Given the description of an element on the screen output the (x, y) to click on. 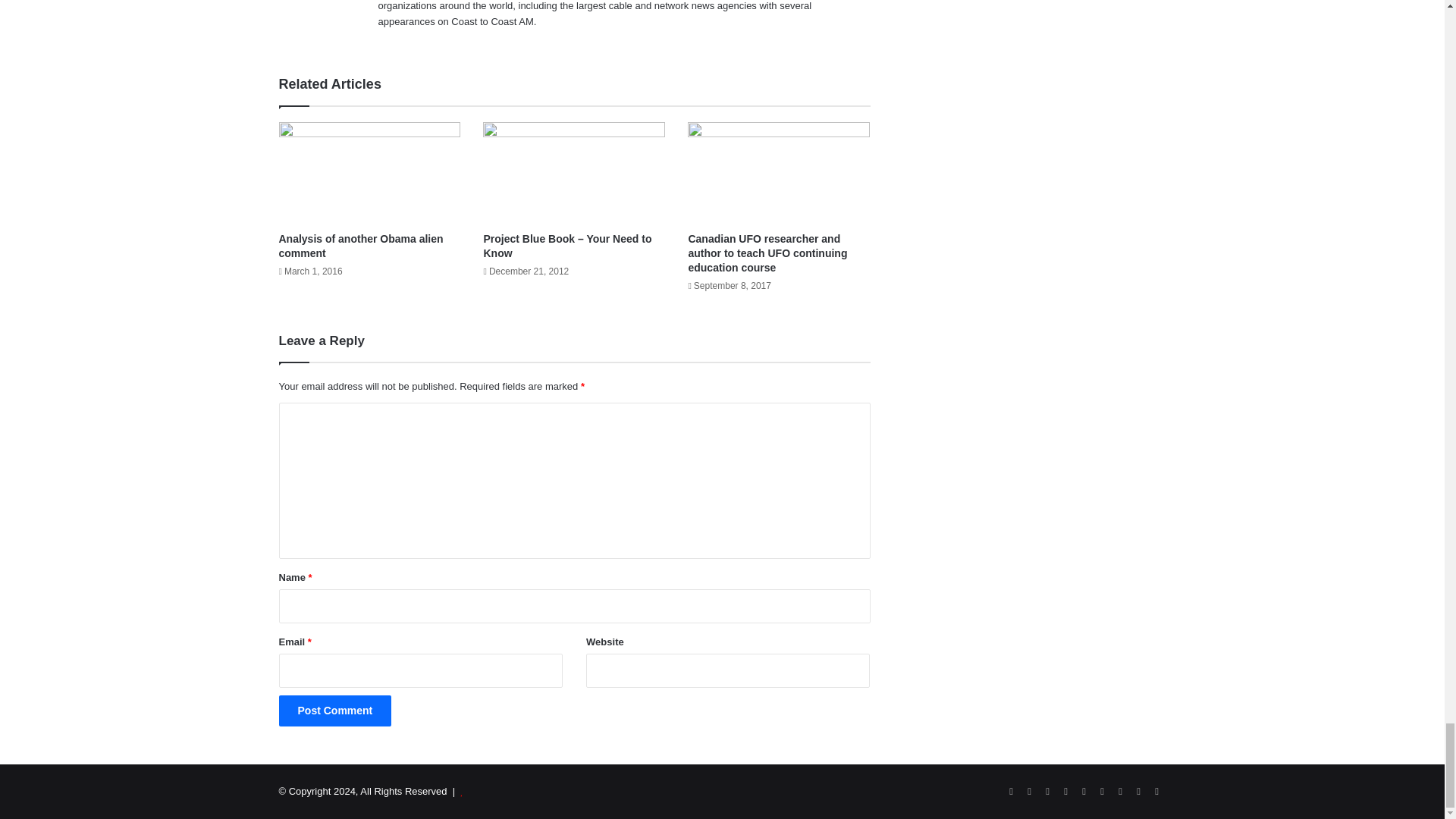
Post Comment (335, 710)
